Given the description of an element on the screen output the (x, y) to click on. 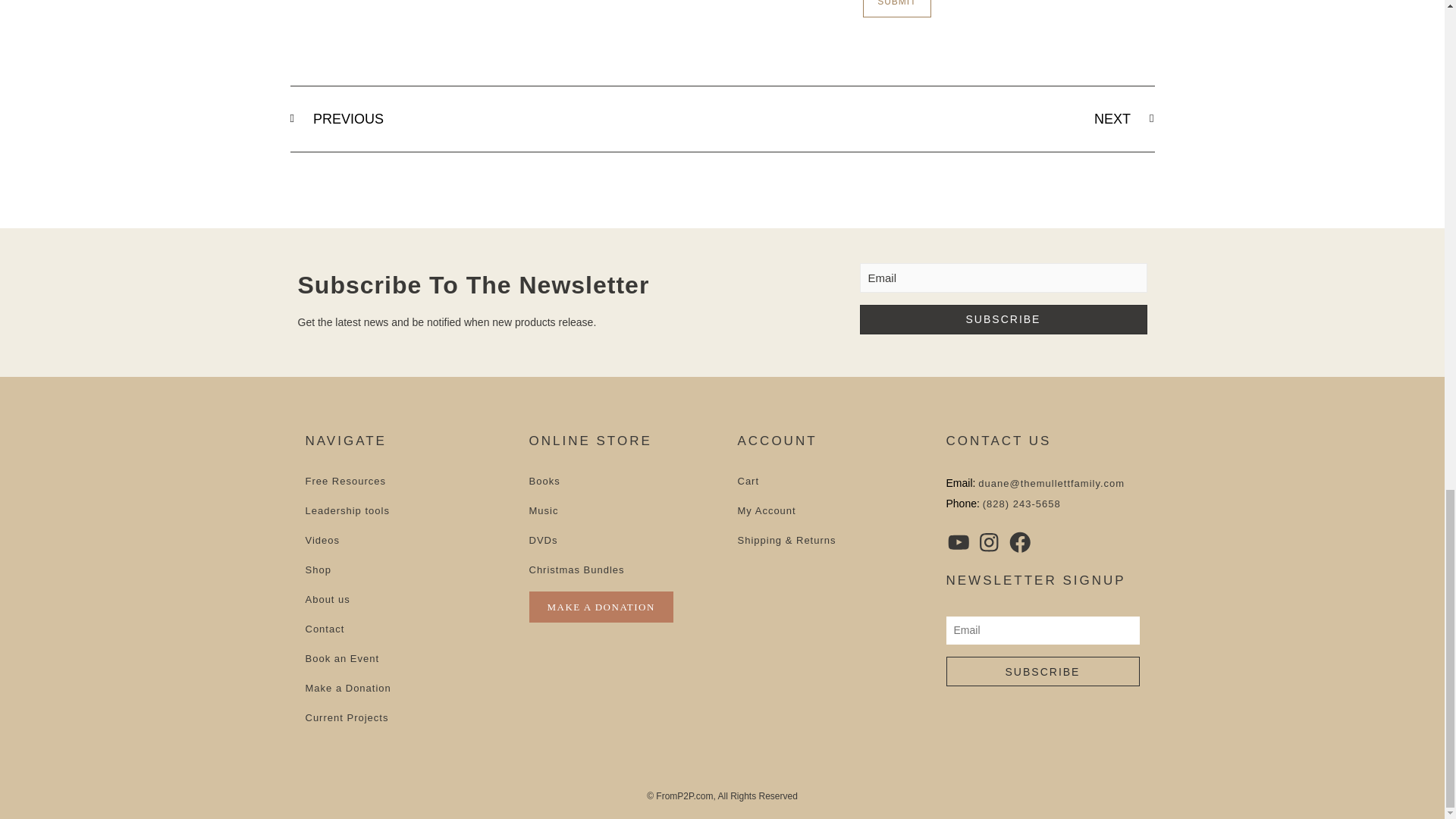
Book an Event (403, 658)
Free Resources (403, 481)
Subscribe (1003, 318)
NEXT (938, 117)
PREVIOUS (505, 117)
Subscribe (1043, 671)
Contact (403, 629)
Submit (896, 8)
Shop (403, 569)
Leadership tools (403, 510)
